Given the description of an element on the screen output the (x, y) to click on. 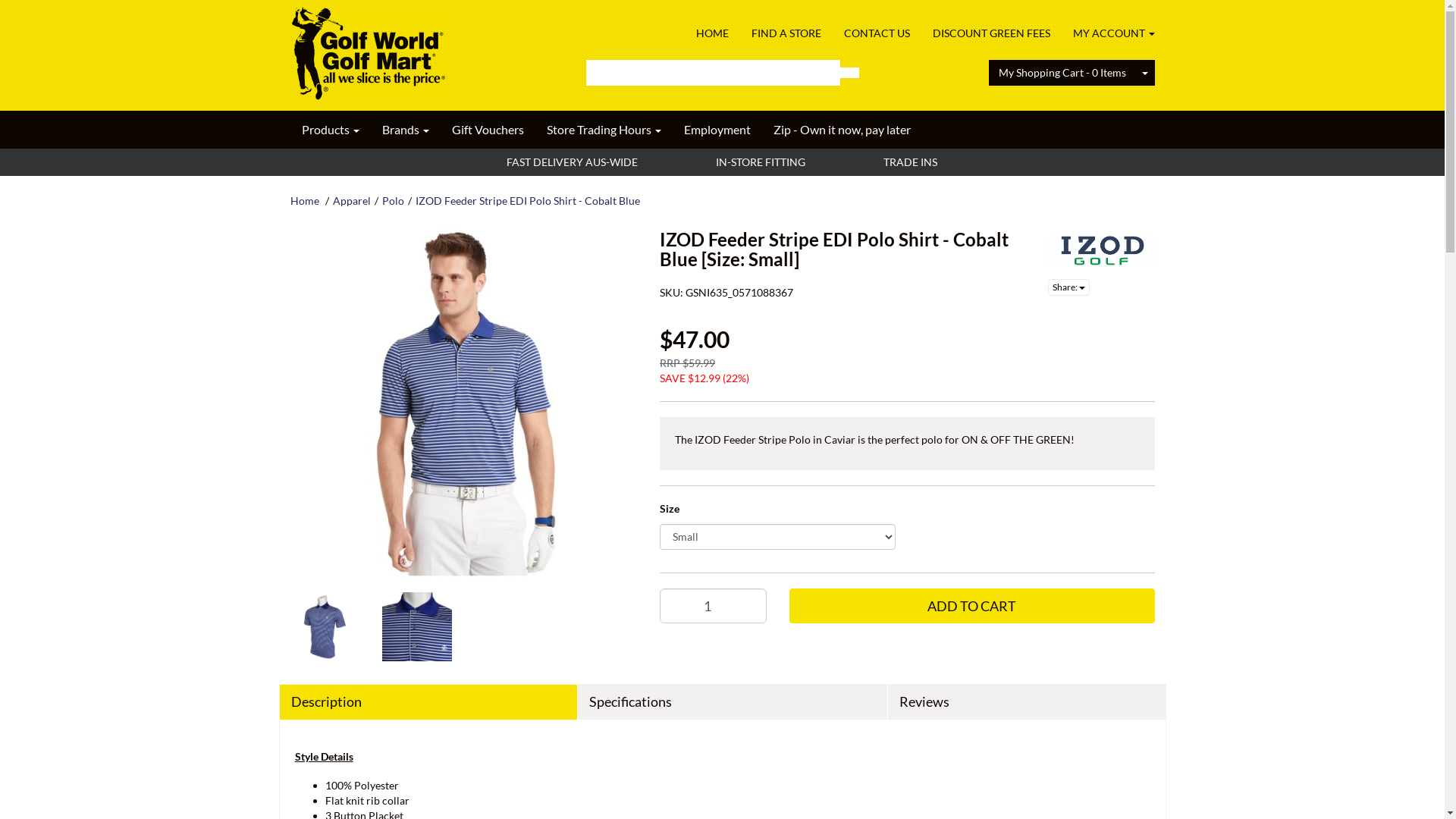
Employment Element type: text (716, 129)
IZOD Golf Element type: hover (1101, 250)
CONTACT US Element type: text (876, 33)
ADD TO CART Element type: text (971, 605)
Large View Element type: hover (416, 626)
HOME Element type: text (711, 33)
Description Element type: text (427, 701)
IN-STORE FITTING Element type: text (758, 161)
Specifications Element type: text (732, 701)
Large View Element type: hover (324, 626)
Reviews Element type: text (1026, 701)
Products Element type: text (329, 129)
Zip - Own it now, pay later Element type: text (841, 129)
Golf World Element type: hover (366, 48)
Apparel Element type: text (351, 200)
Share: Element type: text (1068, 287)
FAST DELIVERY AUS-WIDE Element type: text (570, 161)
My Shopping Cart - 0 Items Element type: text (1061, 72)
MY ACCOUNT Element type: text (1107, 33)
DISCOUNT GREEN FEES Element type: text (990, 33)
Gift Vouchers Element type: text (486, 129)
Search Element type: text (848, 72)
Home Element type: text (303, 200)
Polo Element type: text (393, 200)
Brands Element type: text (404, 129)
Store Trading Hours Element type: text (603, 129)
TRADE INS Element type: text (909, 161)
IZOD Feeder Stripe EDI Polo Shirt - Cobalt Blue Element type: text (527, 200)
FIND A STORE Element type: text (786, 33)
